Given the description of an element on the screen output the (x, y) to click on. 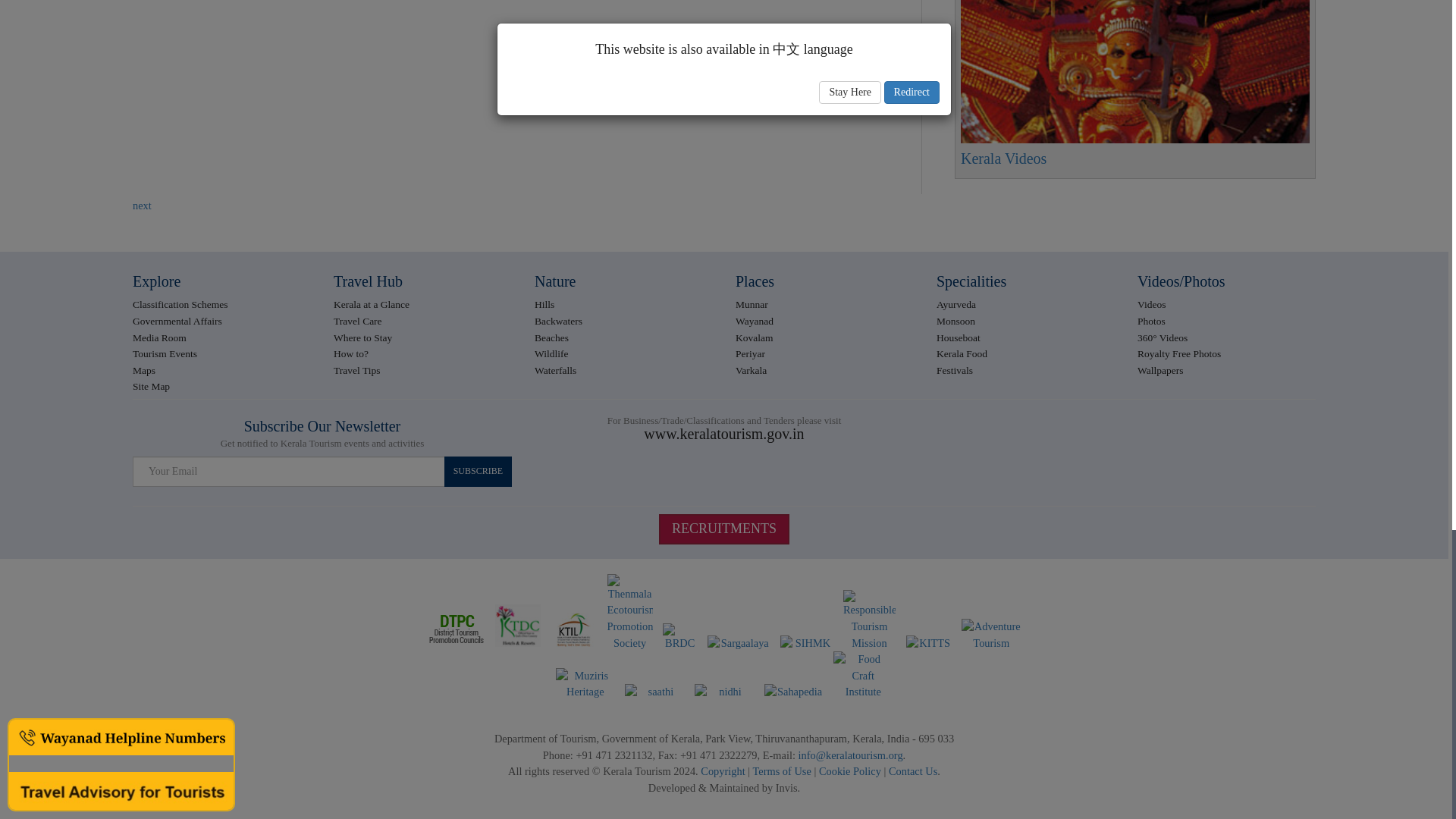
BRDC (679, 637)
District Tourism Promotion Councils (456, 629)
Sargaalaya (738, 643)
KTIL (573, 629)
Adventure Tourism (990, 635)
KTDC (517, 625)
KITTS (928, 643)
Muziris Heritage (585, 684)
SIHM-K (806, 643)
